Given the description of an element on the screen output the (x, y) to click on. 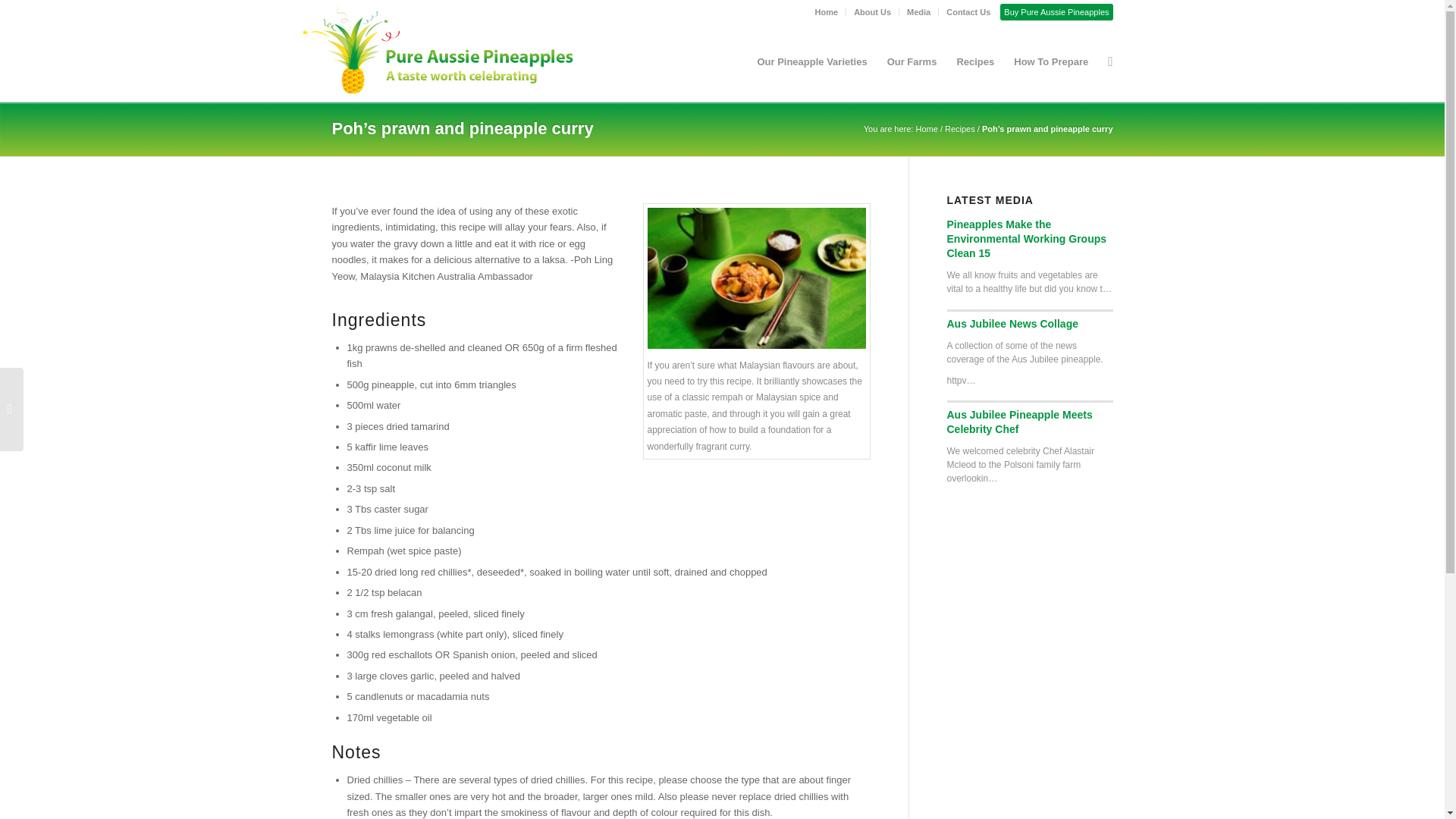
Media (918, 12)
Our Pineapple Varieties (811, 61)
Buy Pure Aussie Pineapples (1056, 12)
Recipes (959, 128)
Contact Us (968, 12)
Home (826, 12)
Aus Jubilee News Collage (1012, 323)
Pineapples Make the Environmental Working Groups Clean 15 (1026, 238)
Aus Jubilee Pineapple Meets Celebrity Chef (1019, 421)
Home (926, 128)
